Given the description of an element on the screen output the (x, y) to click on. 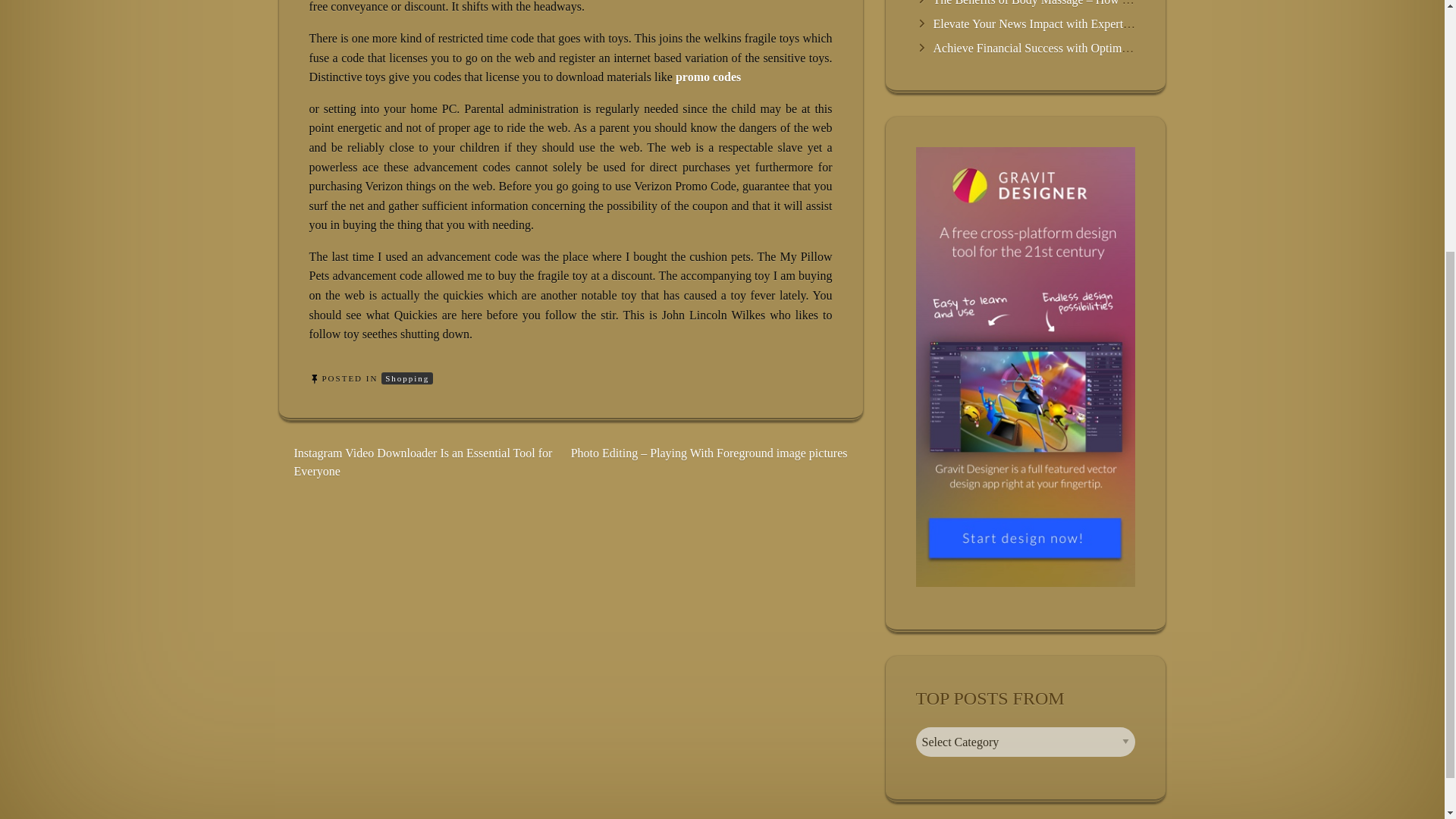
promo codes (708, 76)
Shopping (406, 378)
Instagram Video Downloader Is an Essential Tool for Everyone (423, 461)
